Given the description of an element on the screen output the (x, y) to click on. 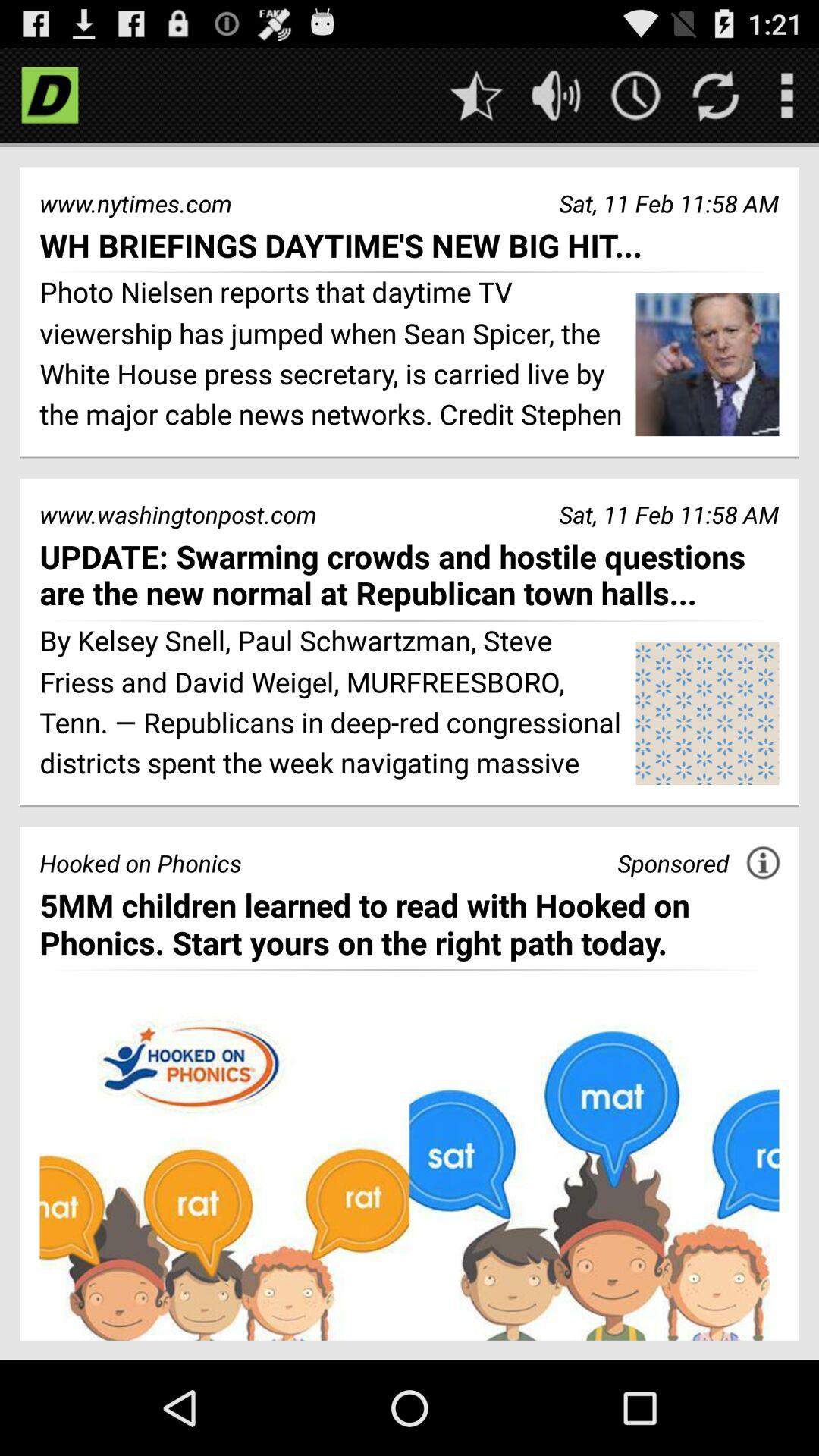
turn off the 5mm children learned (409, 924)
